Given the description of an element on the screen output the (x, y) to click on. 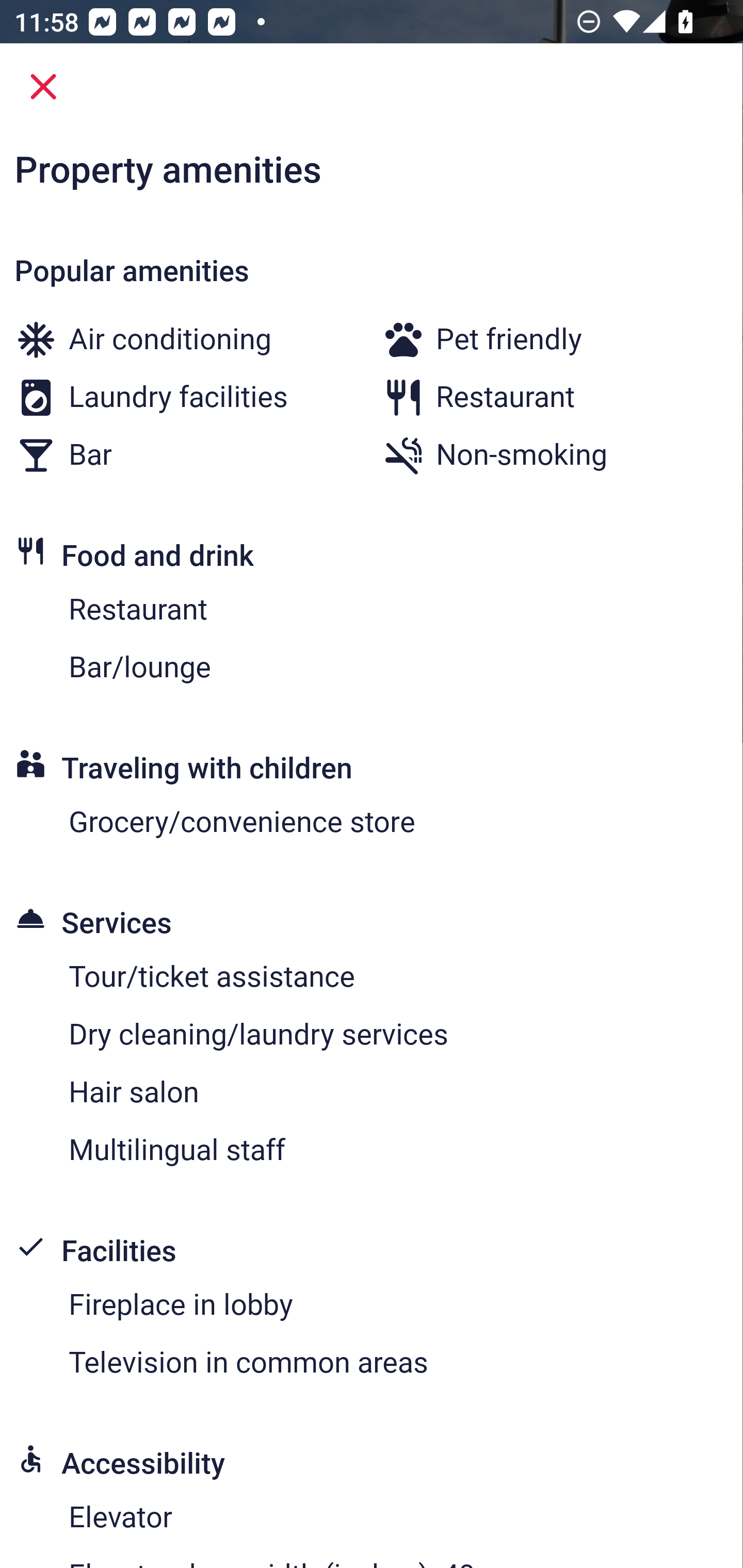
Close (43, 86)
